Given the description of an element on the screen output the (x, y) to click on. 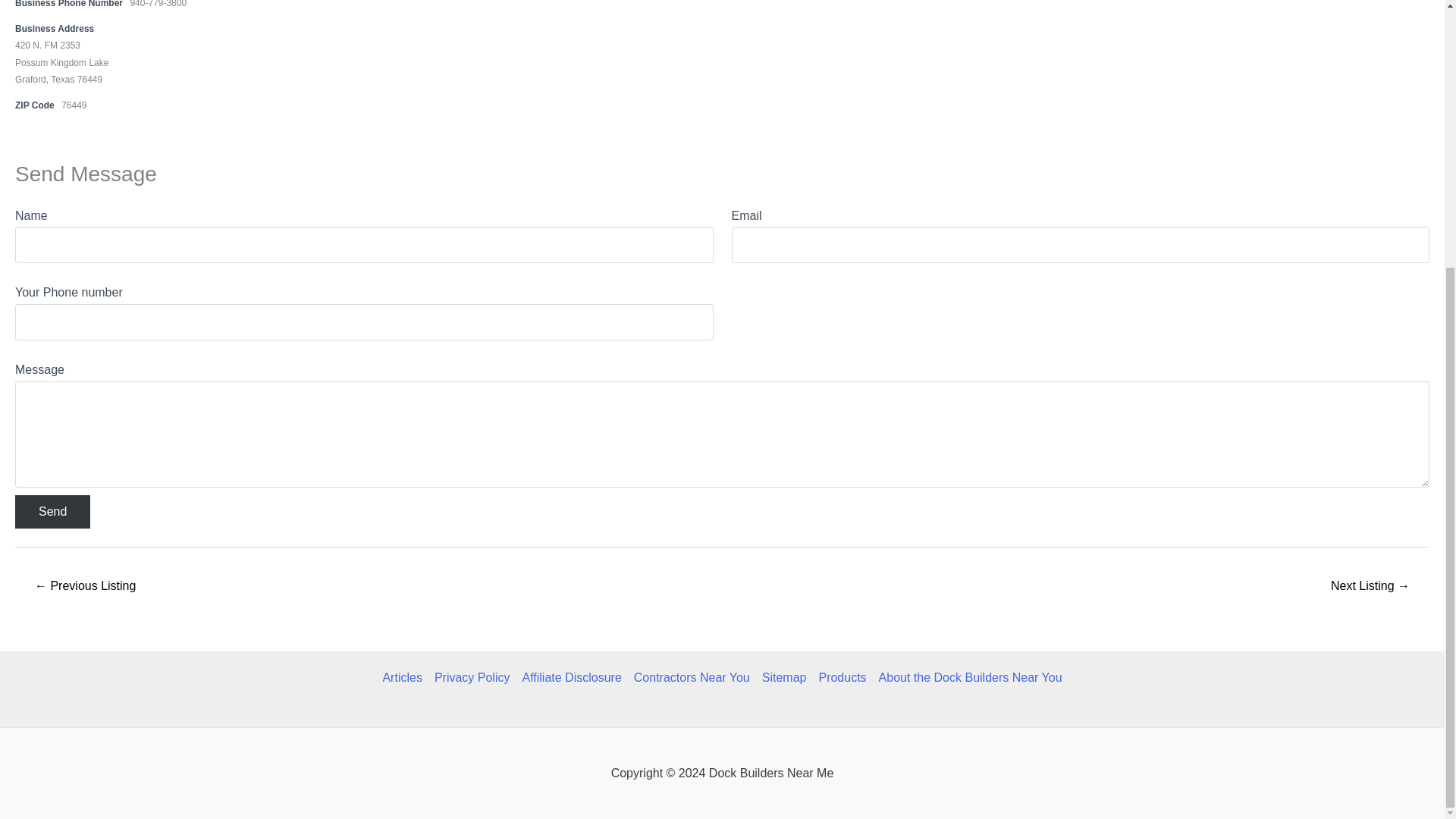
Send (52, 511)
Golden Construction LLC (1370, 587)
Dependable Docks (85, 587)
